Given the description of an element on the screen output the (x, y) to click on. 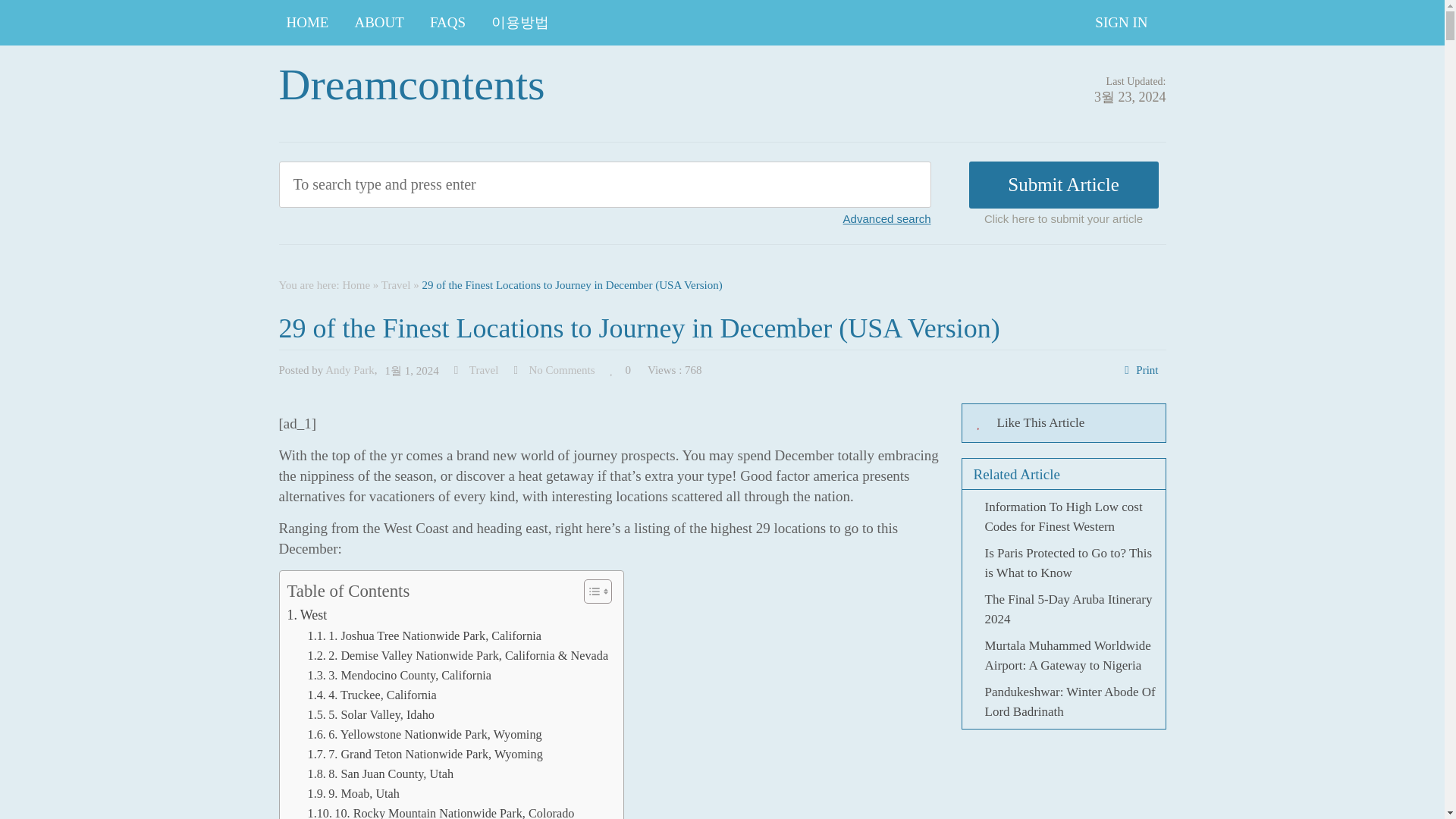
6. Yellowstone Nationwide Park, Wyoming (424, 734)
HOME (307, 22)
6. Yellowstone Nationwide Park, Wyoming (424, 734)
West (306, 615)
8. San Juan County, Utah (379, 773)
Andy Park (349, 369)
5. Solar Valley, Idaho (370, 714)
FAQS (447, 22)
Submit Article (1063, 184)
Dreamcontents (411, 83)
